Given the description of an element on the screen output the (x, y) to click on. 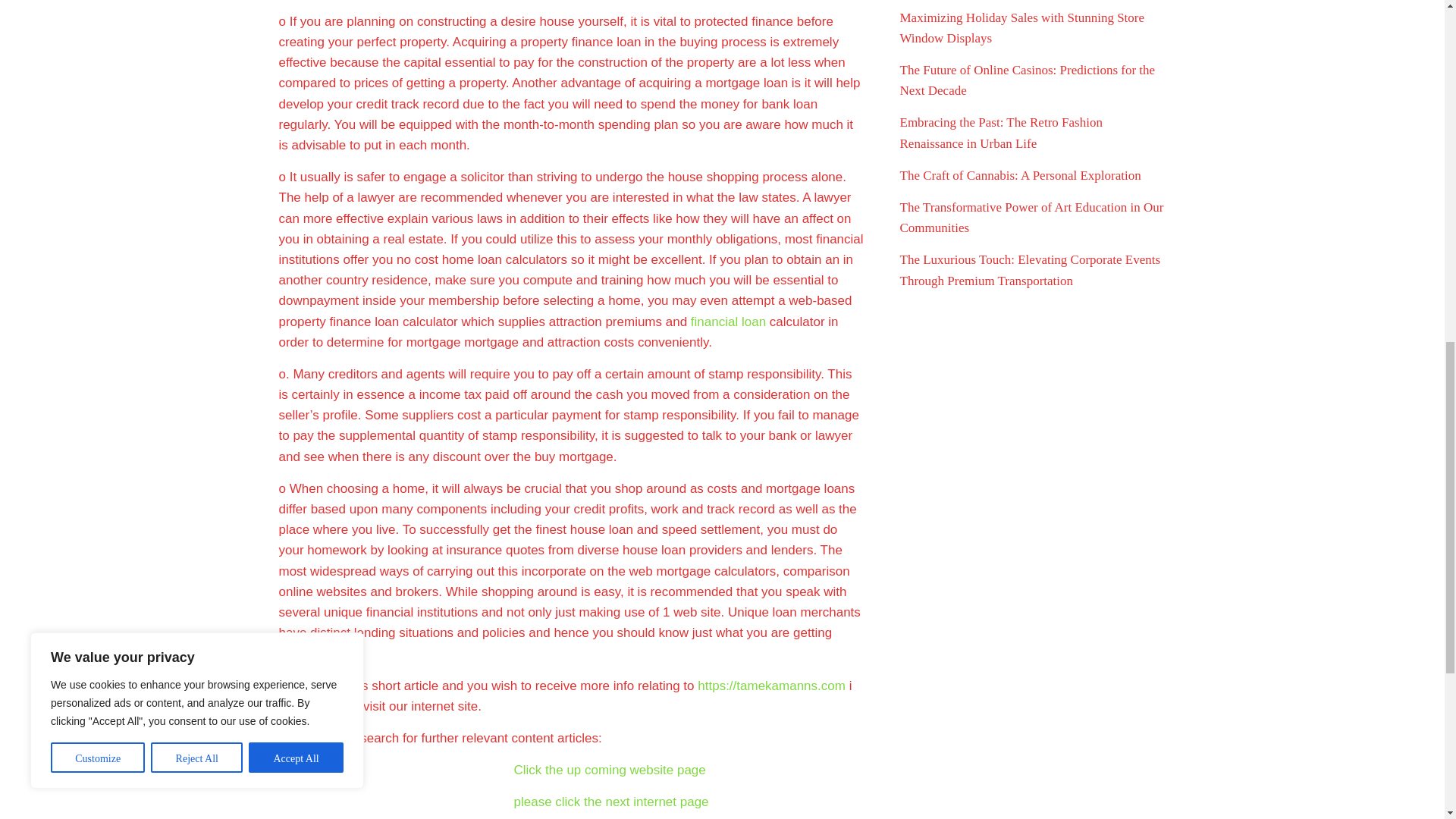
Maximizing Holiday Sales with Stunning Store Window Displays (1021, 27)
Click the up coming website page (609, 769)
financial loan (727, 321)
please click the next internet page (611, 801)
